Given the description of an element on the screen output the (x, y) to click on. 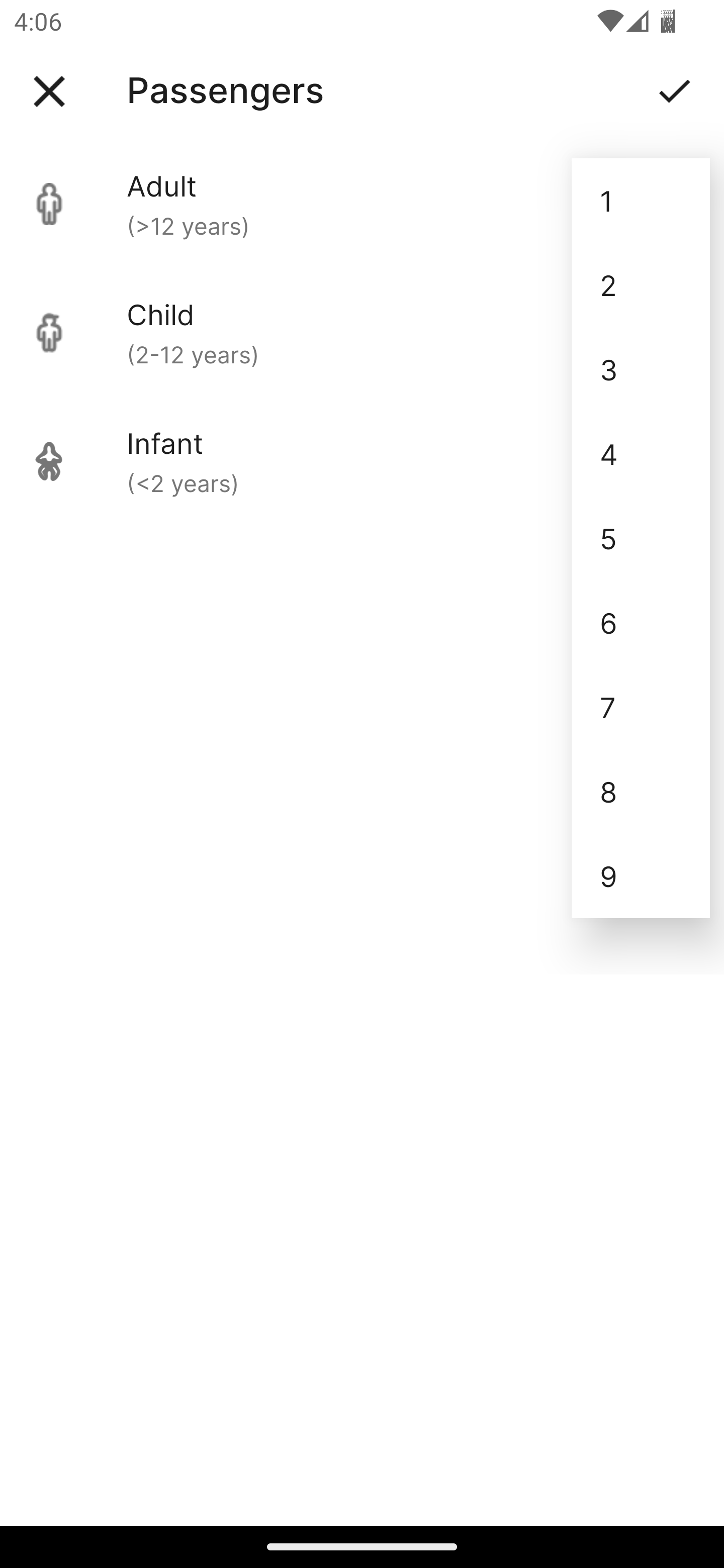
1 (640, 200)
2 (640, 285)
3 (640, 368)
4 (640, 452)
5 (640, 537)
6 (640, 622)
7 (640, 706)
8 (640, 791)
9 (640, 876)
